Given the description of an element on the screen output the (x, y) to click on. 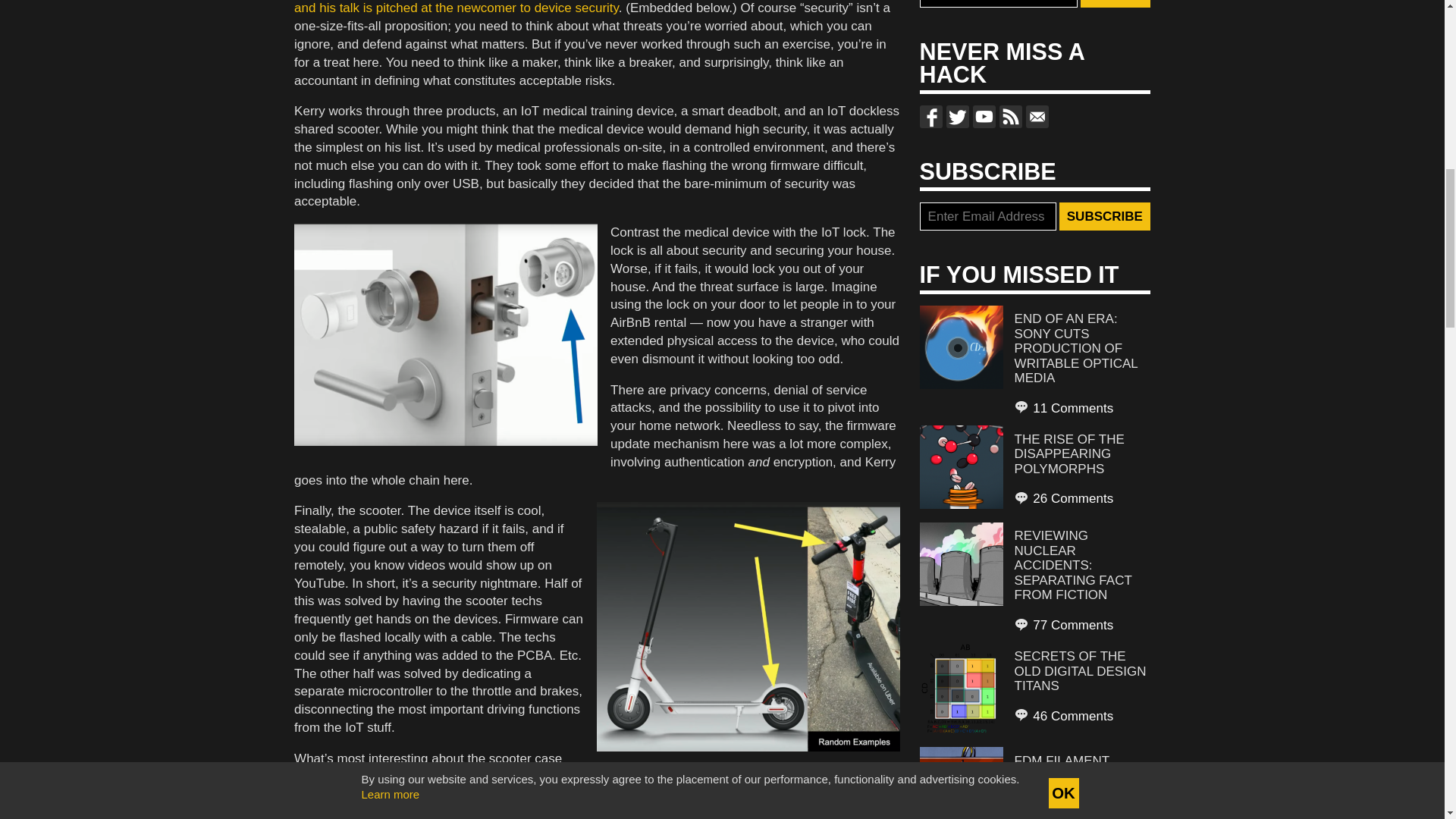
Subscribe (1104, 216)
Search (1115, 4)
and his talk is pitched at the newcomer to device security (456, 7)
Search (1115, 4)
